Given the description of an element on the screen output the (x, y) to click on. 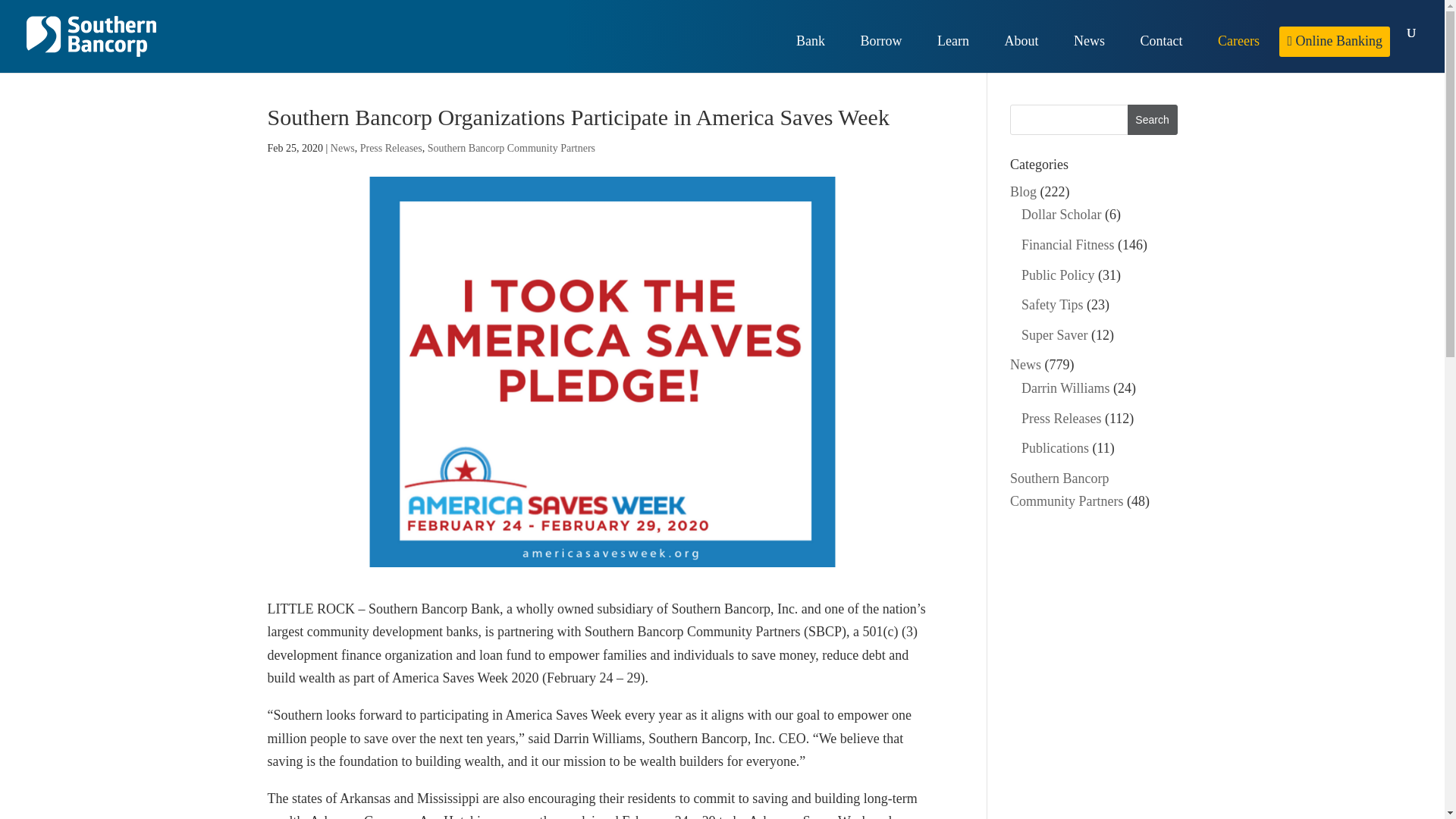
Borrow (888, 54)
Learn (960, 54)
Search (1151, 119)
Bank (818, 54)
